Given the description of an element on the screen output the (x, y) to click on. 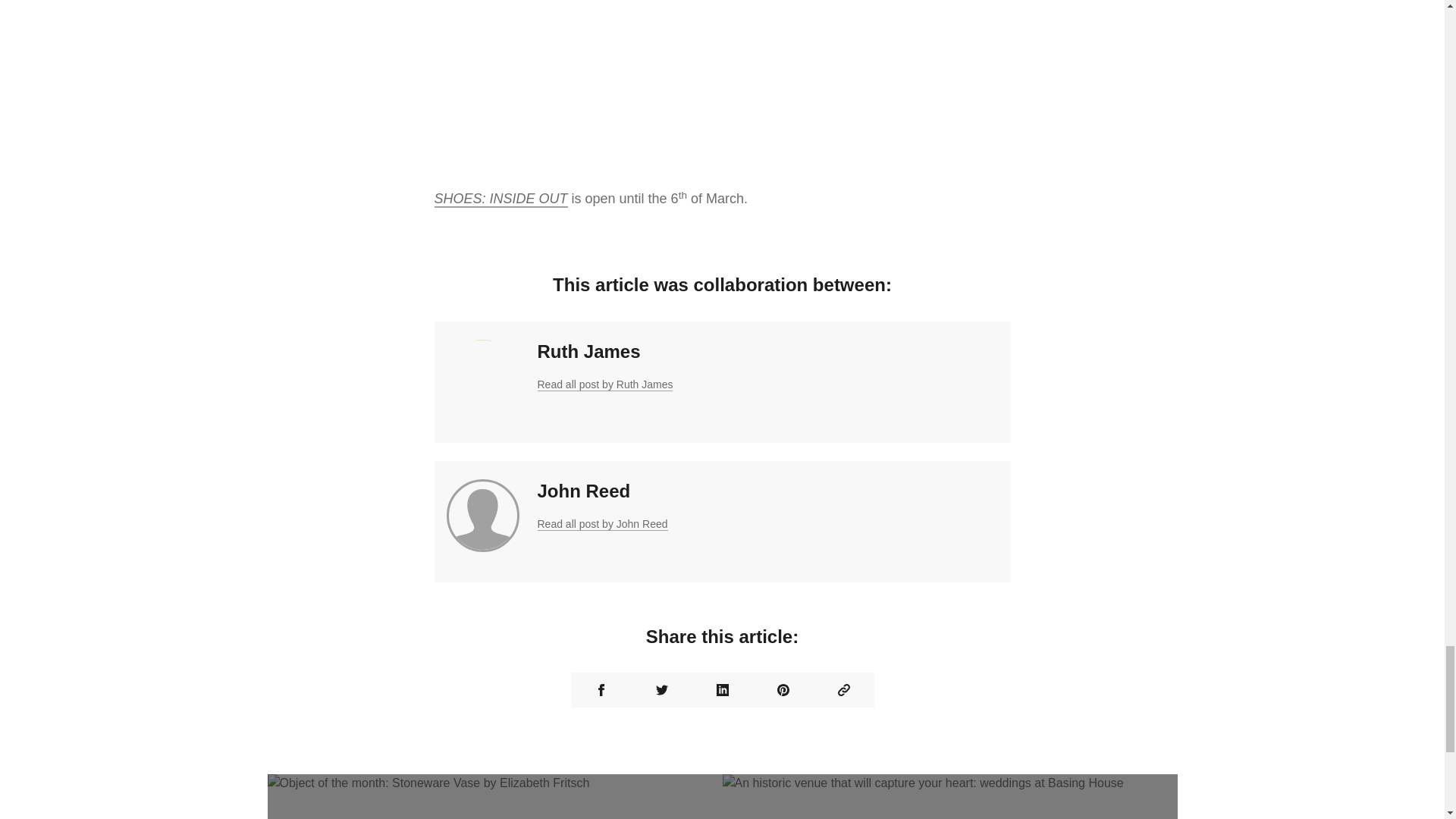
Ruth James (588, 351)
John Reed (583, 490)
SHOES: INSIDE OUT (500, 199)
Share on Linkedin (721, 689)
Read all post by Ruth James (604, 384)
Share on Twitter (660, 689)
Copy the permalink (842, 689)
Share on Facebook (600, 689)
Read all post by John Reed (601, 523)
Share on Pinterest (782, 689)
